Given the description of an element on the screen output the (x, y) to click on. 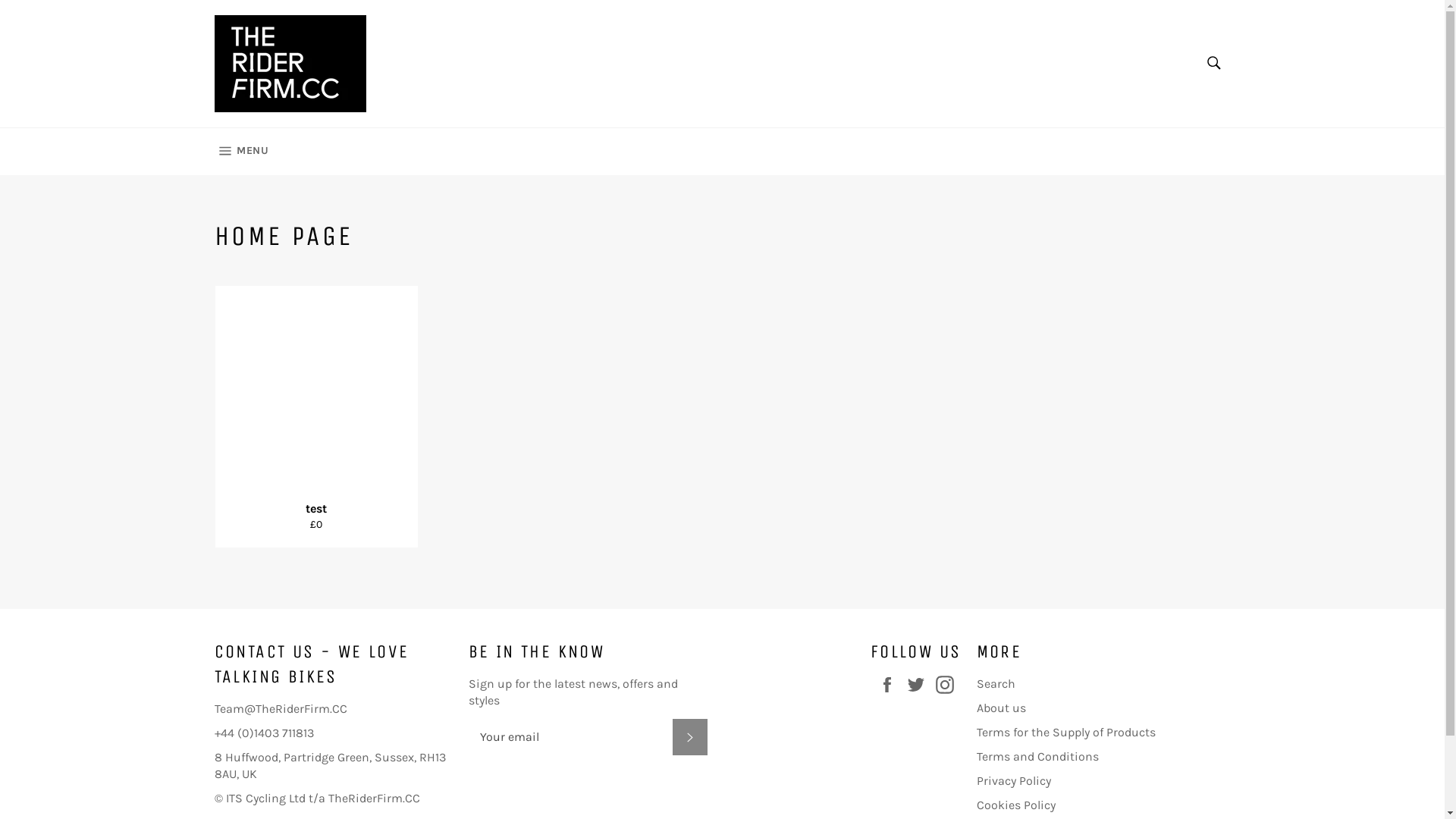
About us Element type: text (1001, 707)
Privacy Policy Element type: text (1013, 780)
Search Element type: text (995, 683)
SUBSCRIBE Element type: text (688, 736)
Cookies Policy Element type: text (1015, 804)
Terms and Conditions Element type: text (1037, 756)
Twitter Element type: text (919, 683)
Terms for the Supply of Products Element type: text (1065, 731)
MENU
SITE NAVIGATION Element type: text (240, 151)
Facebook Element type: text (890, 683)
Search Element type: text (1212, 62)
Instagram Element type: text (948, 683)
